Given the description of an element on the screen output the (x, y) to click on. 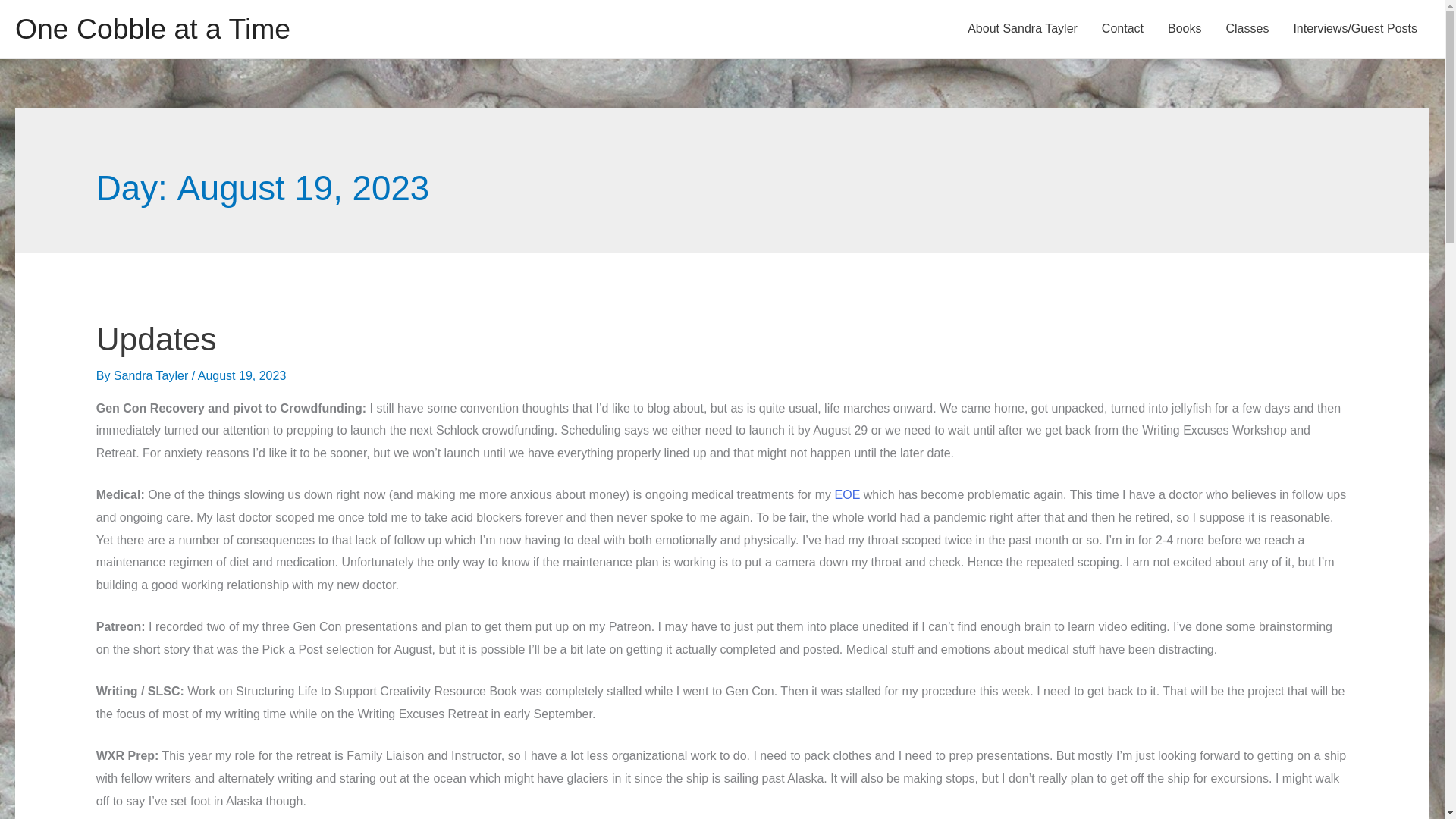
Classes (1246, 29)
EOE (847, 494)
Books (1184, 29)
Sandra Tayler (152, 375)
Updates (156, 339)
One Cobble at a Time (151, 29)
View all posts by Sandra Tayler (152, 375)
Contact (1122, 29)
About Sandra Tayler (1022, 29)
